Given the description of an element on the screen output the (x, y) to click on. 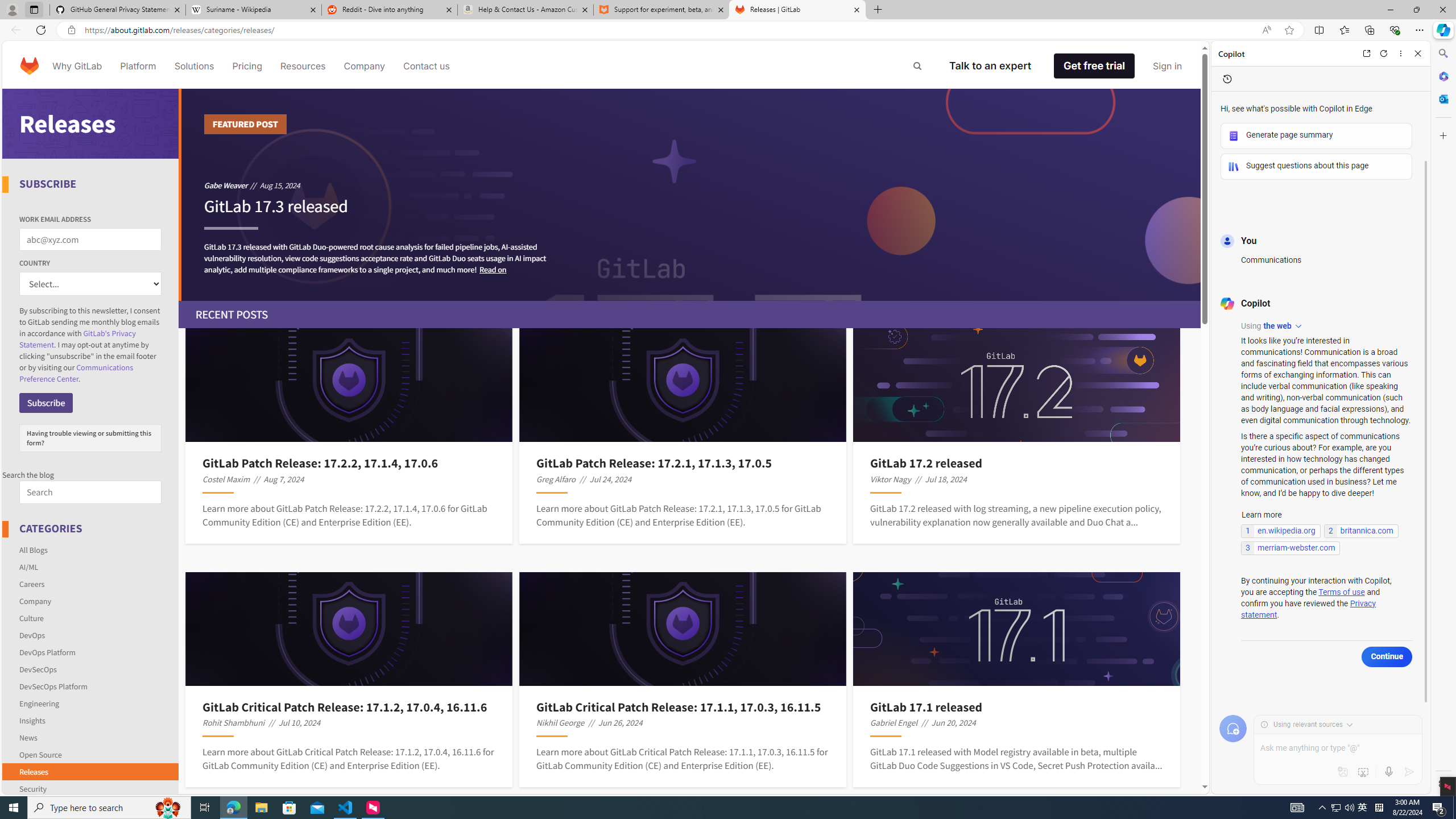
All Blogs (33, 549)
Releases | GitLab (797, 9)
Why GitLab (77, 65)
All Blogs (90, 549)
Gabriel Engel (893, 722)
Open Source (90, 754)
